Given the description of an element on the screen output the (x, y) to click on. 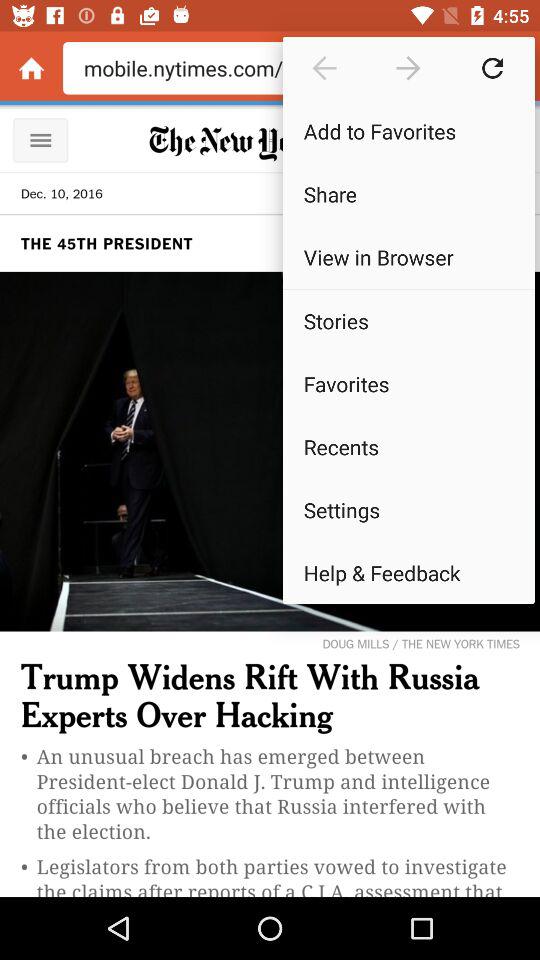
launch the settings (408, 509)
